Given the description of an element on the screen output the (x, y) to click on. 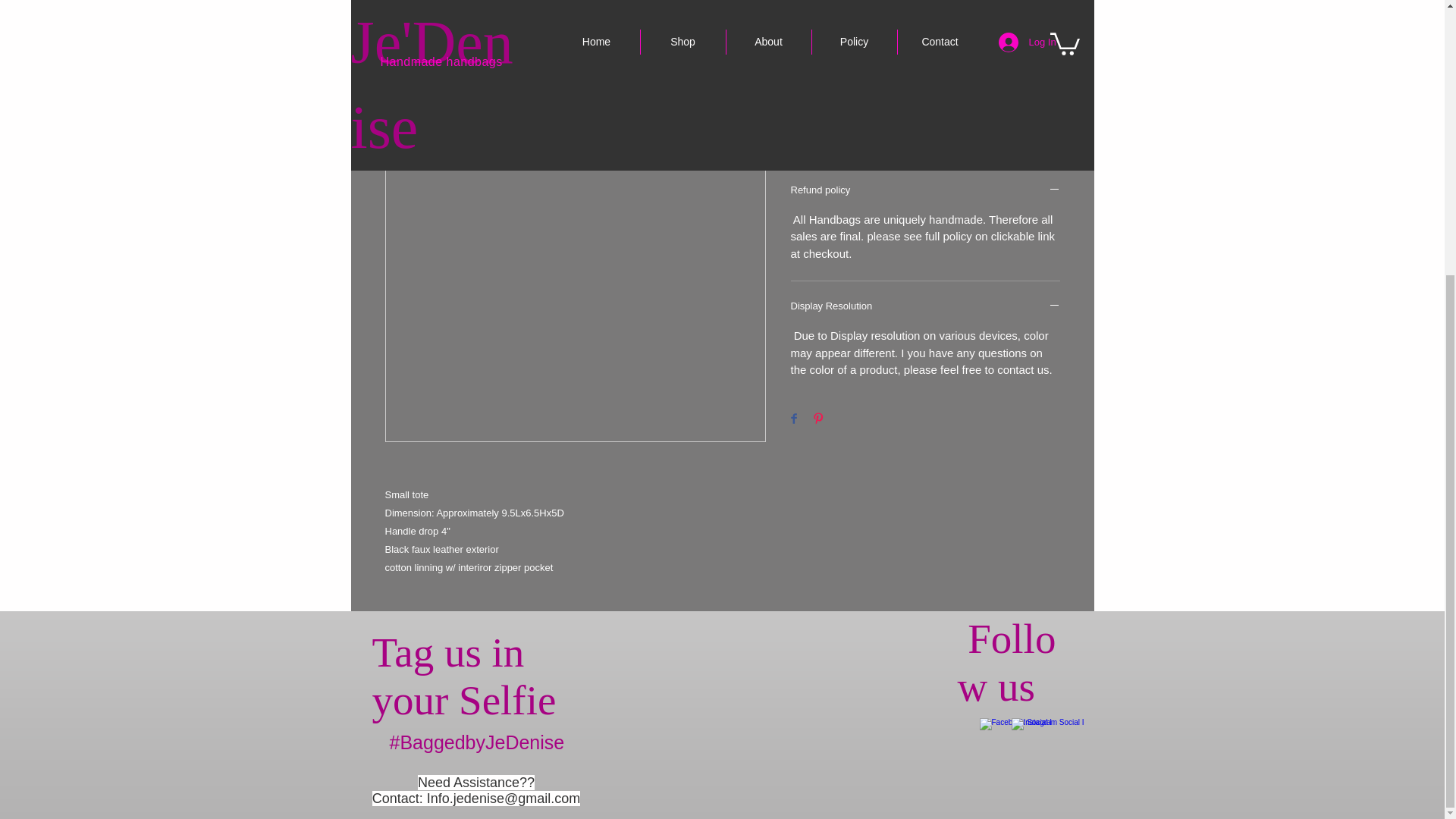
Display Resolution (924, 306)
1 (818, 35)
Add to Cart (924, 90)
Refund policy (924, 191)
Buy Now (924, 130)
